Given the description of an element on the screen output the (x, y) to click on. 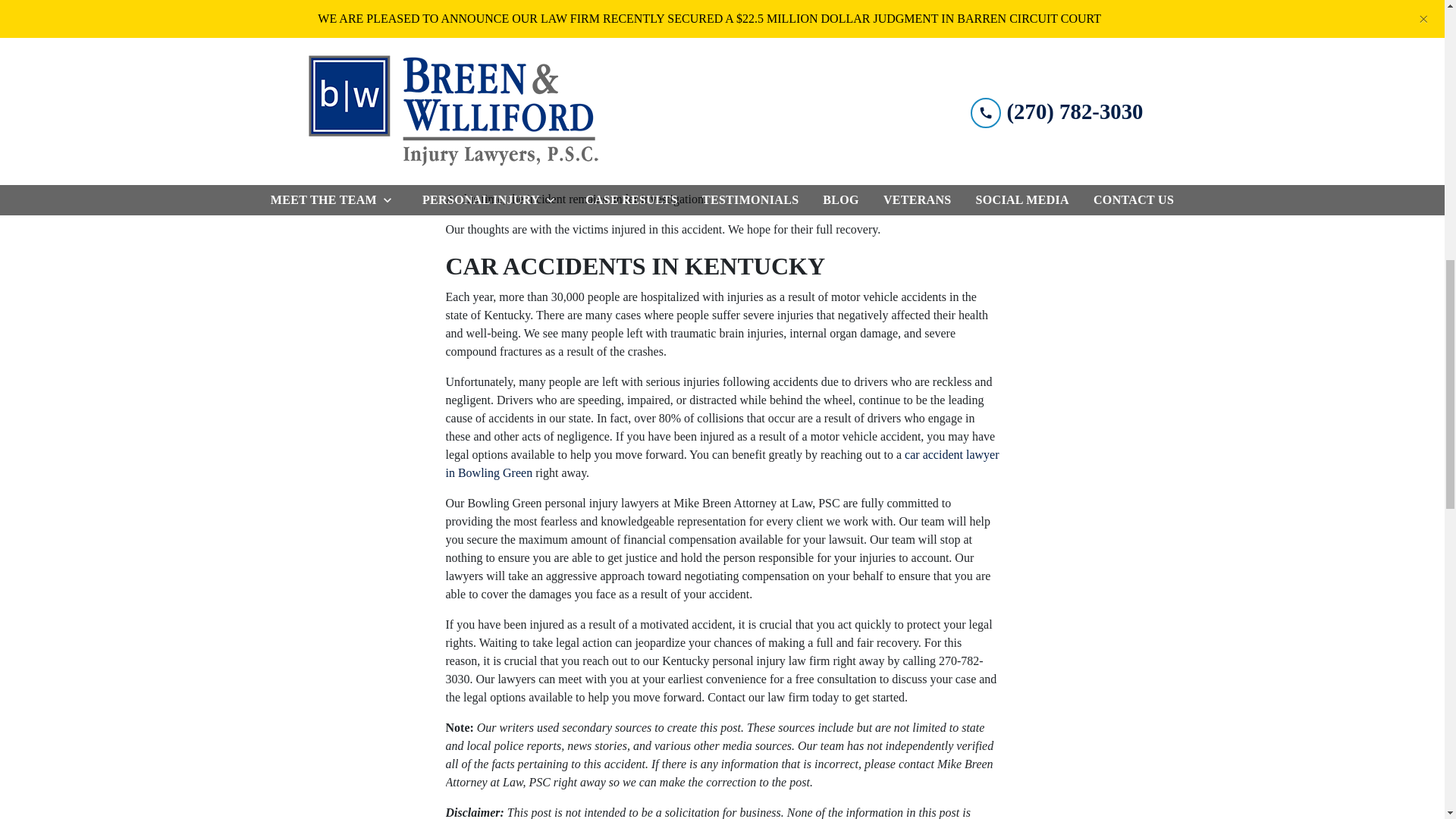
car accident lawyer in Bowling Green (721, 463)
